Given the description of an element on the screen output the (x, y) to click on. 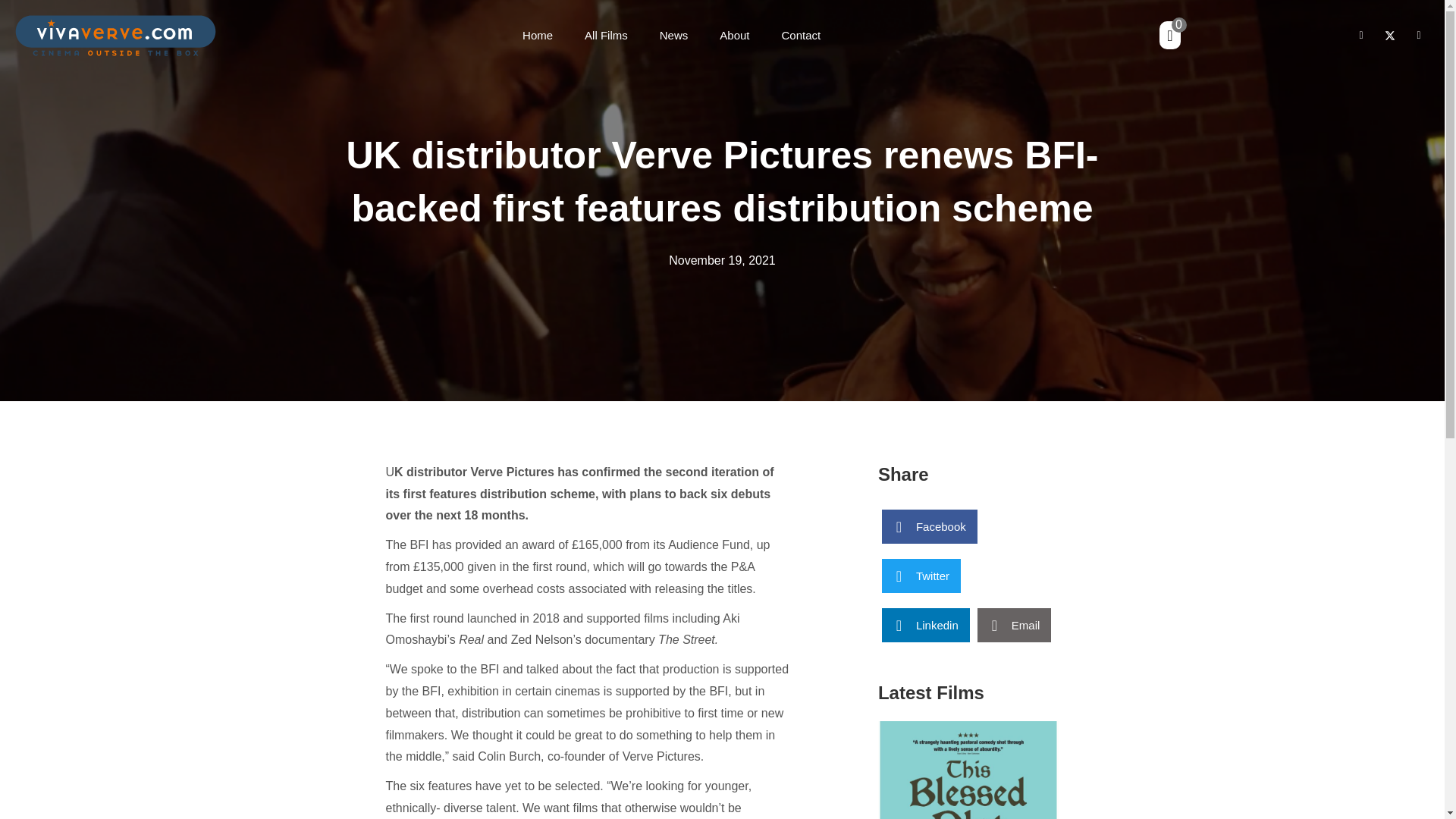
Home (537, 35)
Email (1013, 625)
Facebook (929, 526)
Instagram (1418, 35)
All Films (606, 35)
Twitter (921, 575)
Contact (800, 35)
About (733, 35)
News (673, 35)
This Blessed Plot (968, 770)
Facebook (1361, 35)
Linkedin (925, 625)
